Given the description of an element on the screen output the (x, y) to click on. 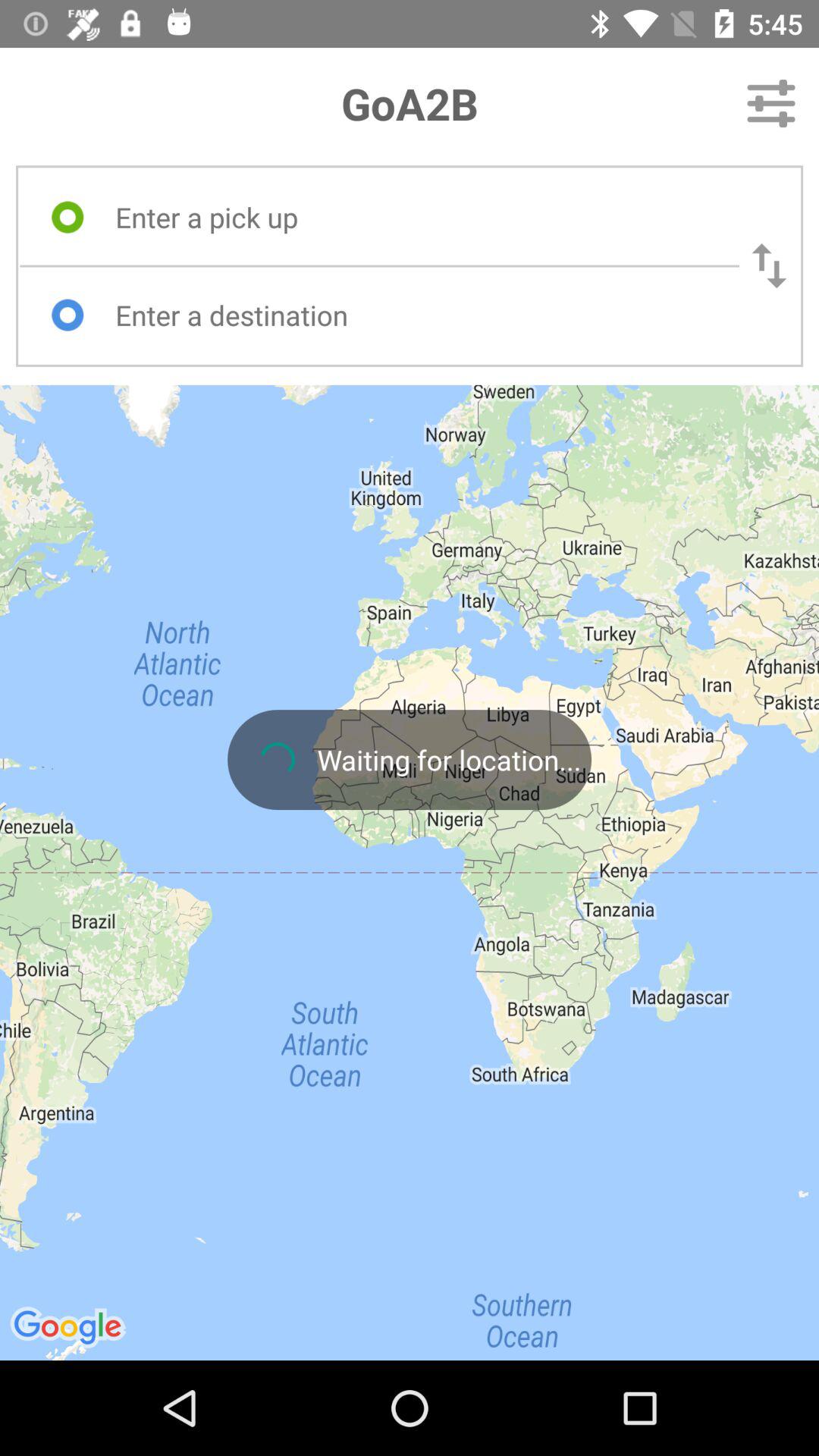
find directions (413, 314)
